Given the description of an element on the screen output the (x, y) to click on. 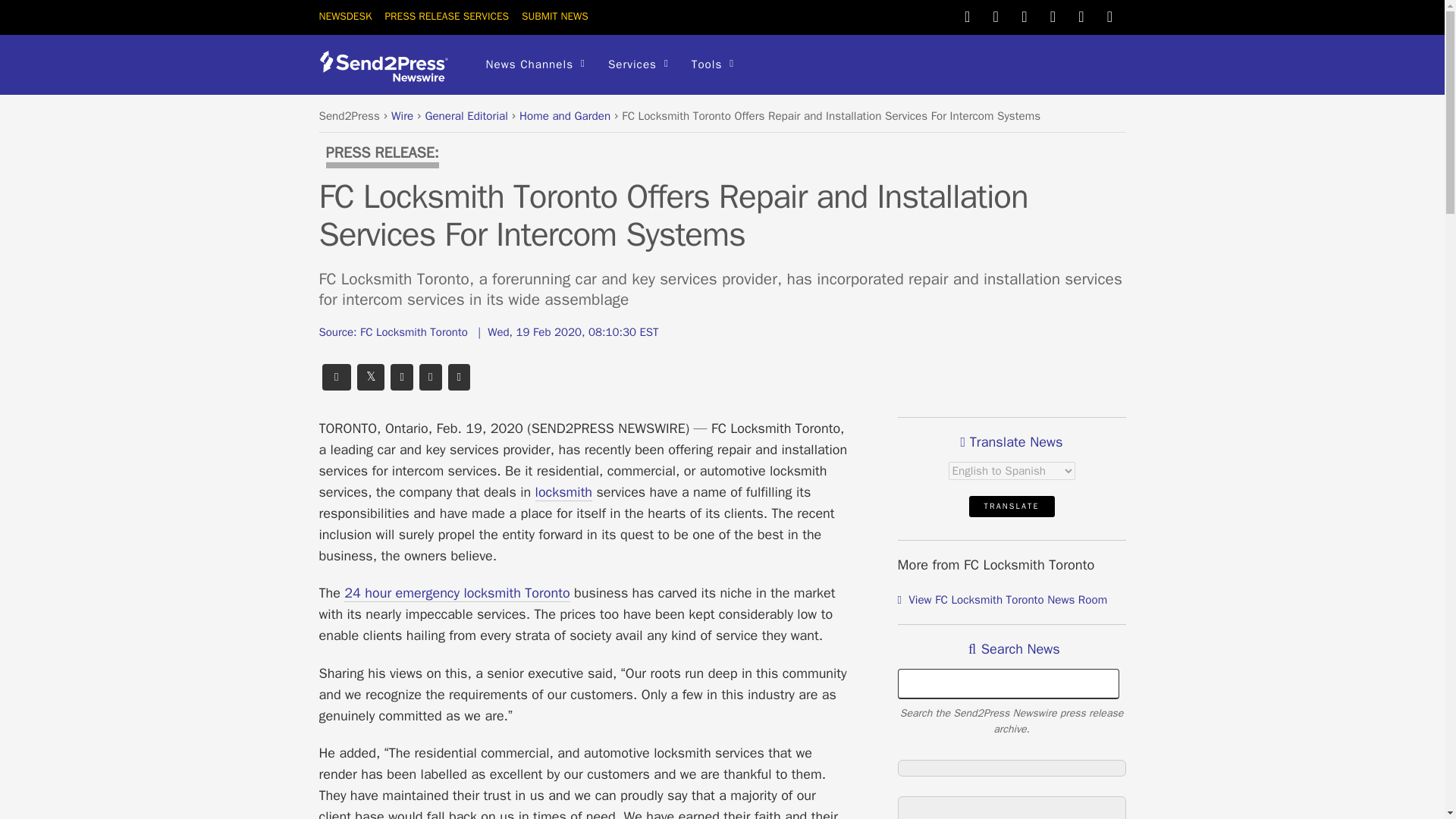
Newswire Main Page (344, 15)
LinkedIn (1052, 15)
Press Release Services (446, 15)
RSS (1110, 15)
NEWSDESK (344, 15)
Instagram (1081, 15)
Send2Press Newswire (388, 66)
Send2Press Newswire - Press Release Services (388, 75)
PR News Channels (535, 65)
SUBMIT NEWS (554, 15)
